Given the description of an element on the screen output the (x, y) to click on. 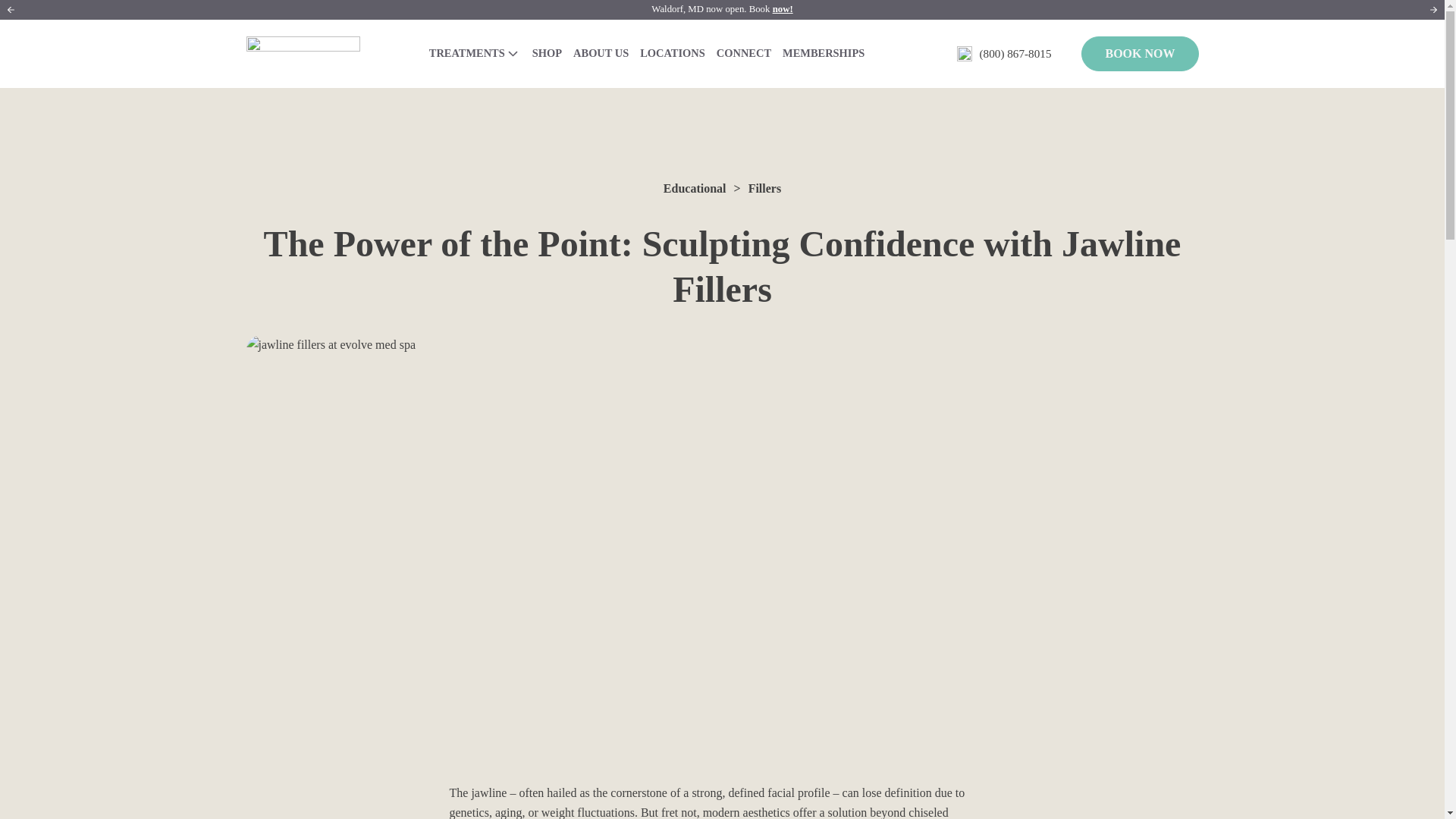
CONNECT (743, 52)
ABOUT US (600, 52)
TREATMENTS (474, 52)
SHOP (546, 52)
LOCATIONS (672, 52)
MEMBERSHIPS (823, 52)
BOOK NOW (1139, 53)
now! (783, 9)
